Given the description of an element on the screen output the (x, y) to click on. 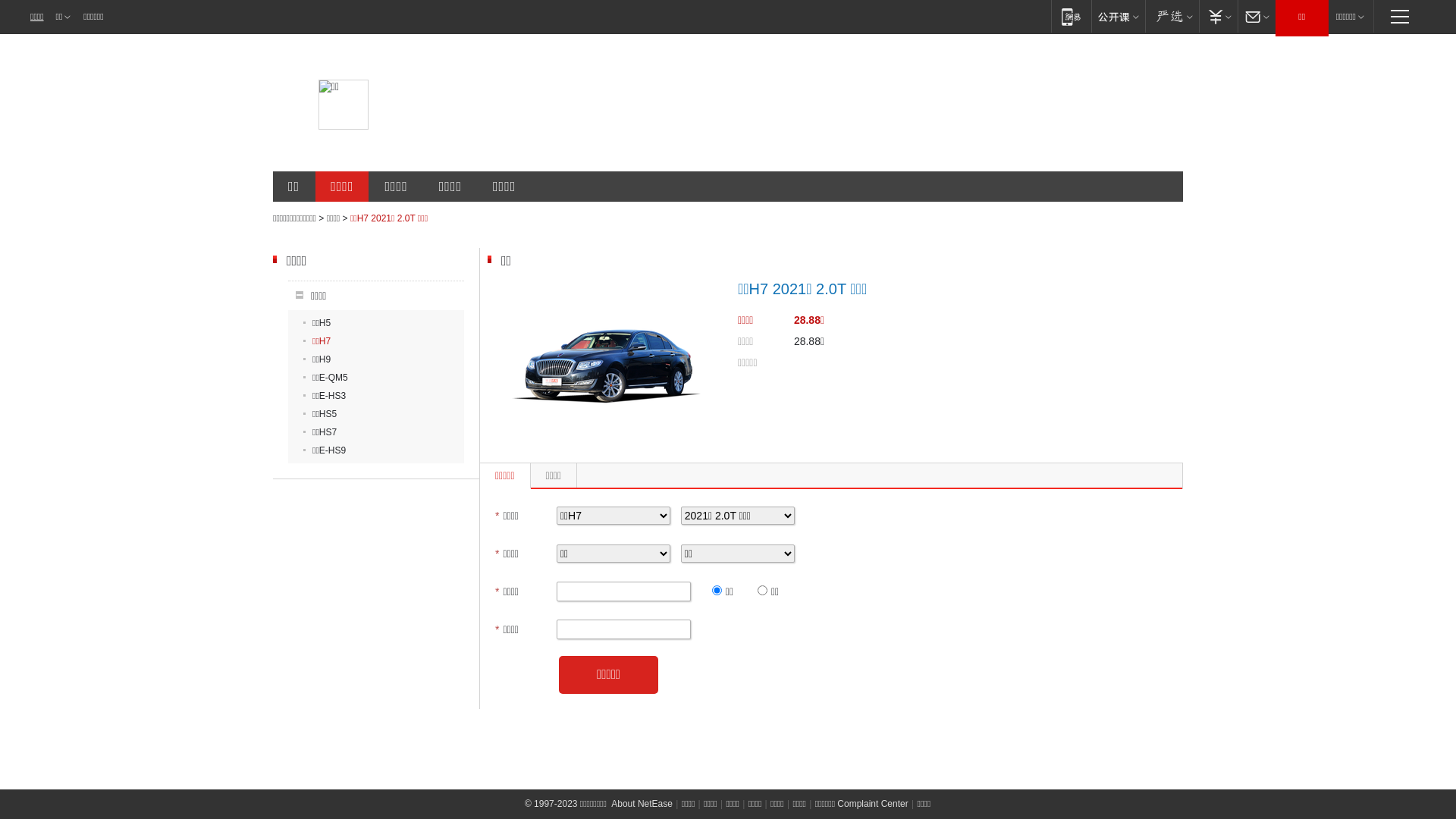
About NetEase Element type: text (641, 803)
